Given the description of an element on the screen output the (x, y) to click on. 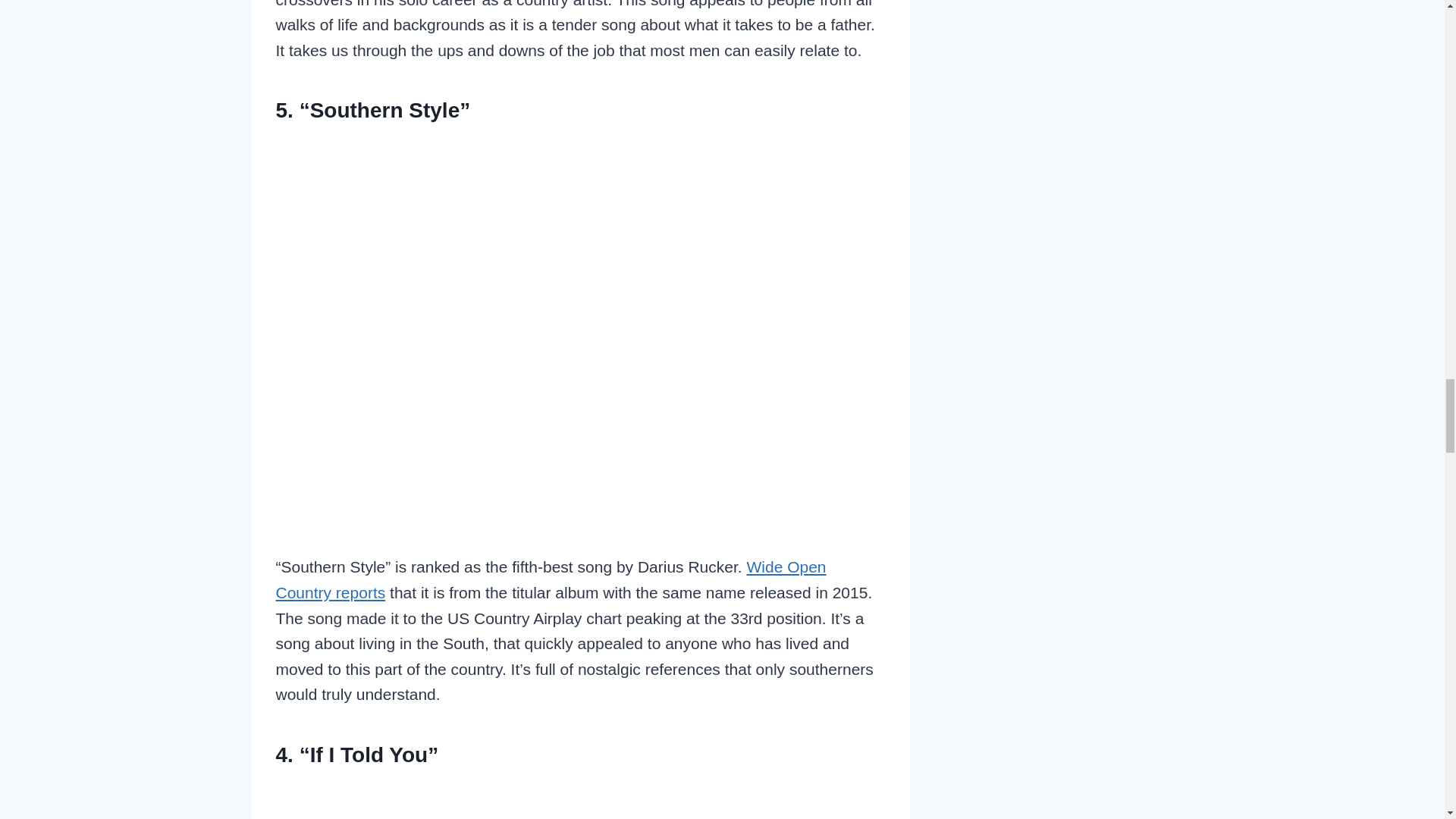
Wide Open Country reports (551, 579)
